Given the description of an element on the screen output the (x, y) to click on. 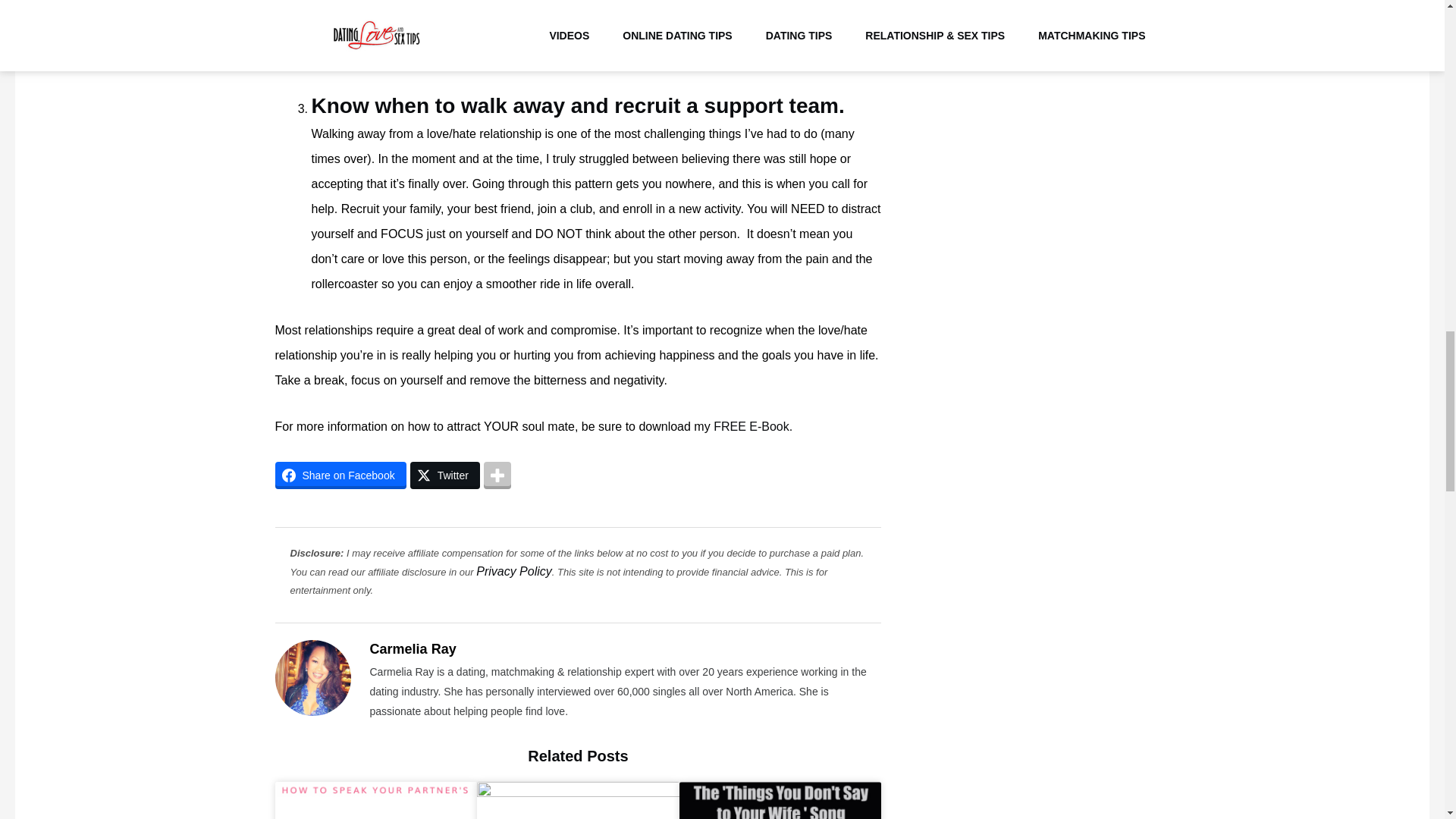
free-book (752, 426)
